Given the description of an element on the screen output the (x, y) to click on. 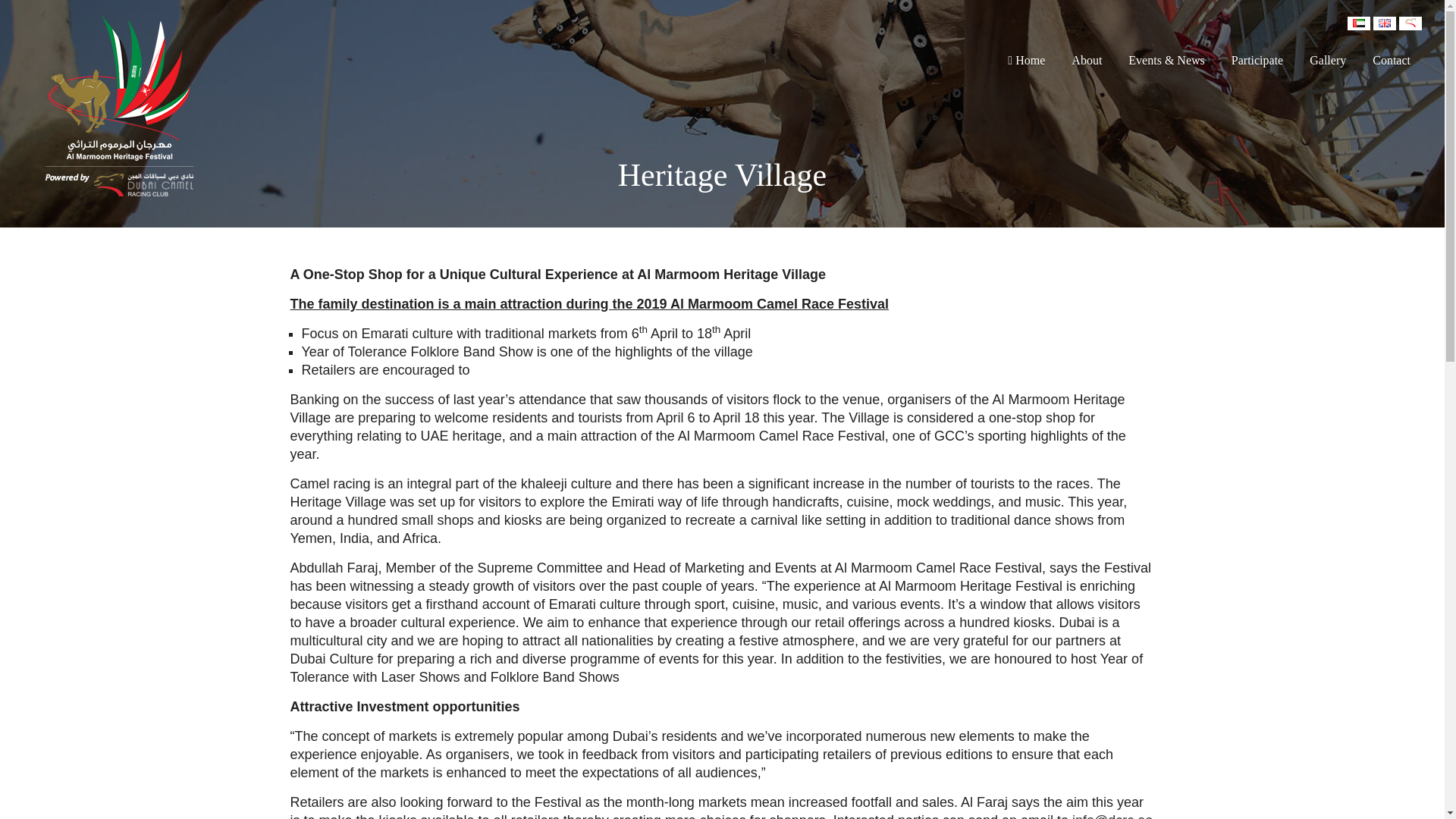
Home (1026, 60)
Gallery (1327, 60)
About Us (1410, 22)
About (1086, 60)
Participate (1257, 60)
Contact (1391, 60)
